Given the description of an element on the screen output the (x, y) to click on. 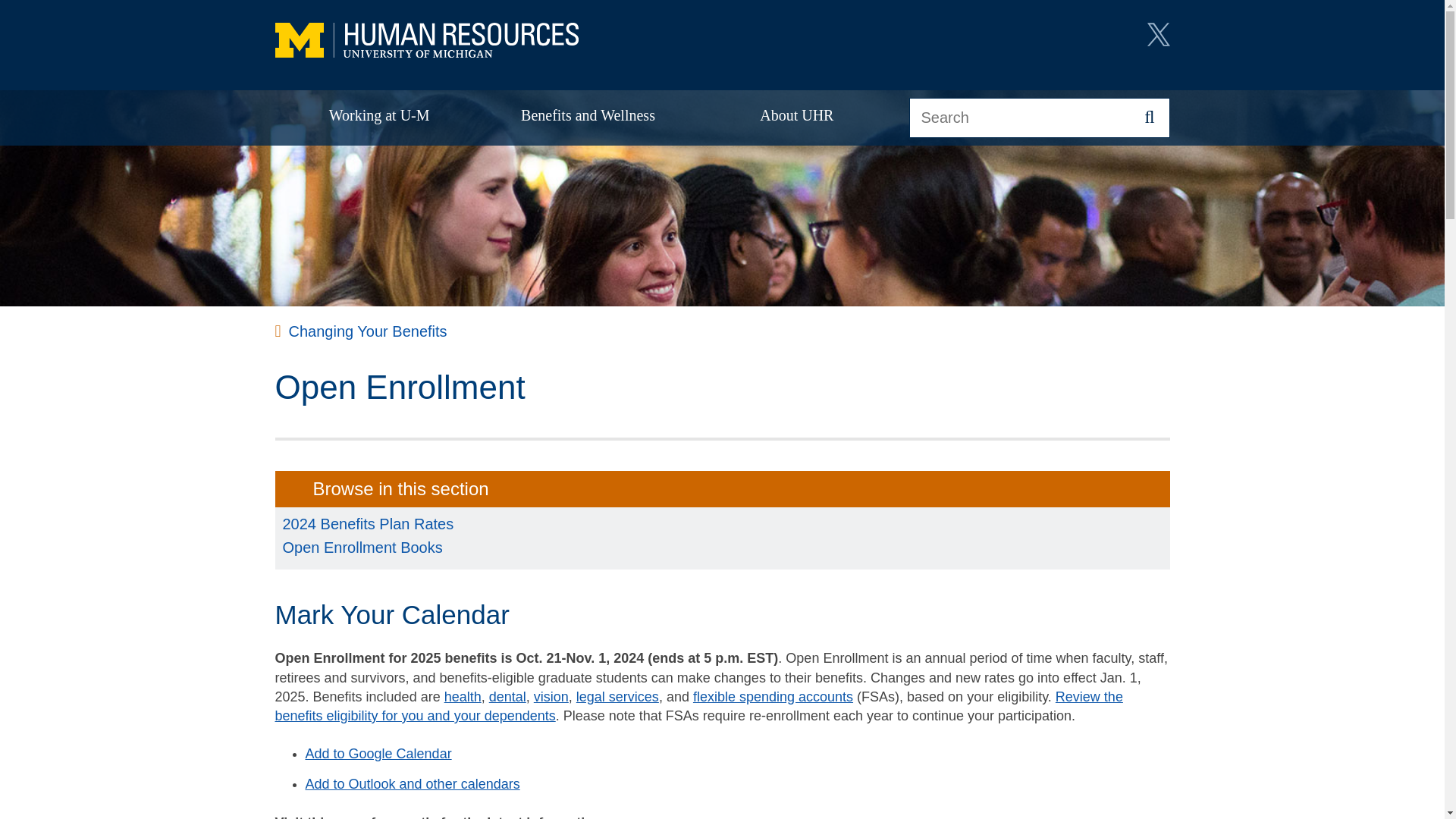
dental (507, 696)
health (462, 696)
vision (551, 696)
Add to Google Calendar (377, 753)
Home (426, 41)
legal services (617, 696)
Enter the terms you wish to search for. (1038, 117)
Working at U-M (379, 116)
Add to Outlook and other calendars (411, 783)
Review the benefits eligibility for you and your dependents (698, 706)
